Given the description of an element on the screen output the (x, y) to click on. 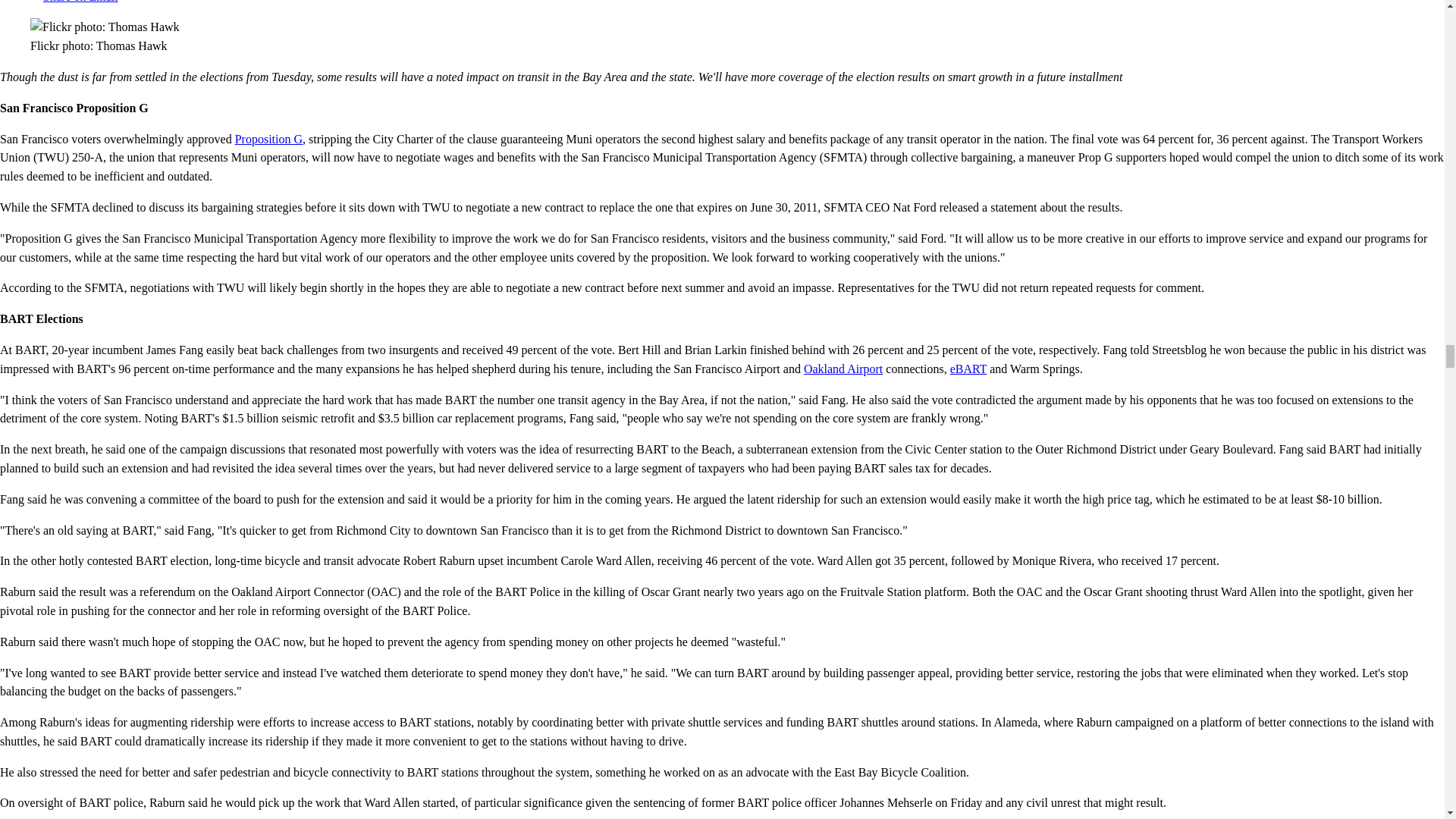
Oakland Airport (842, 368)
Share on Email (73, 1)
eBART (968, 368)
Proposition G (268, 138)
